Given the description of an element on the screen output the (x, y) to click on. 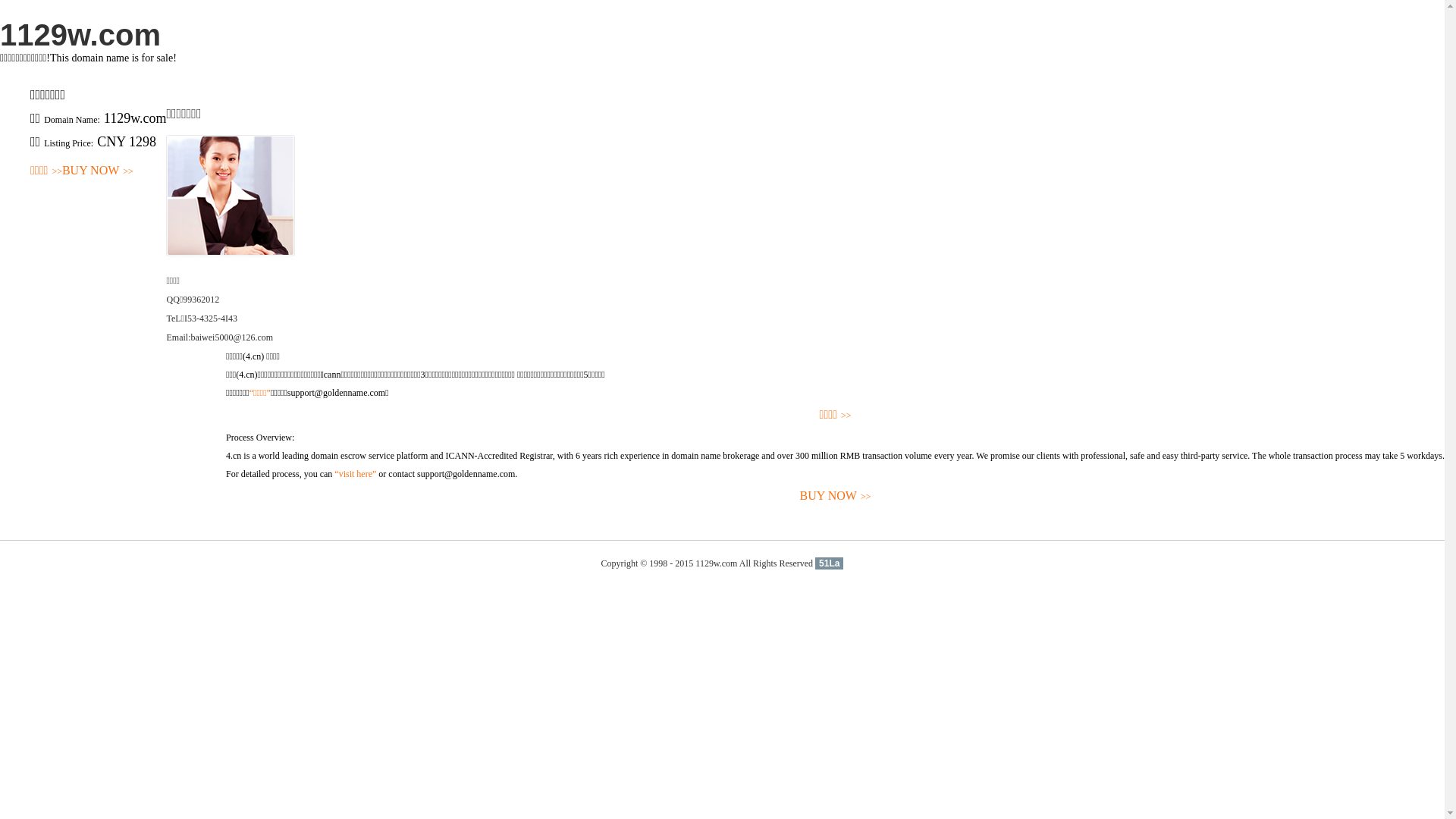
51La Element type: text (829, 563)
BUY NOW>> Element type: text (834, 496)
BUY NOW>> Element type: text (97, 170)
